Given the description of an element on the screen output the (x, y) to click on. 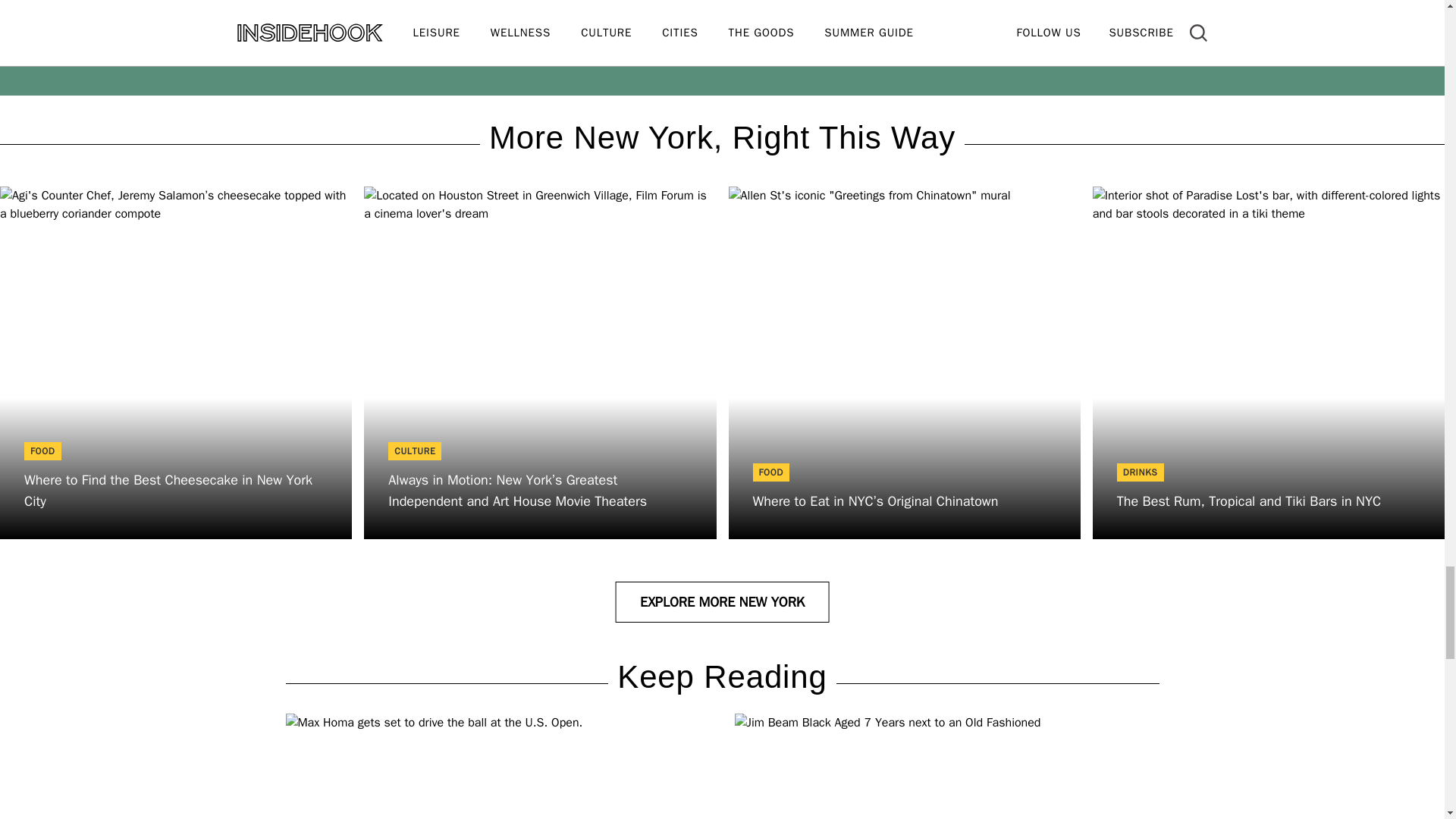
on (394, 52)
